Given the description of an element on the screen output the (x, y) to click on. 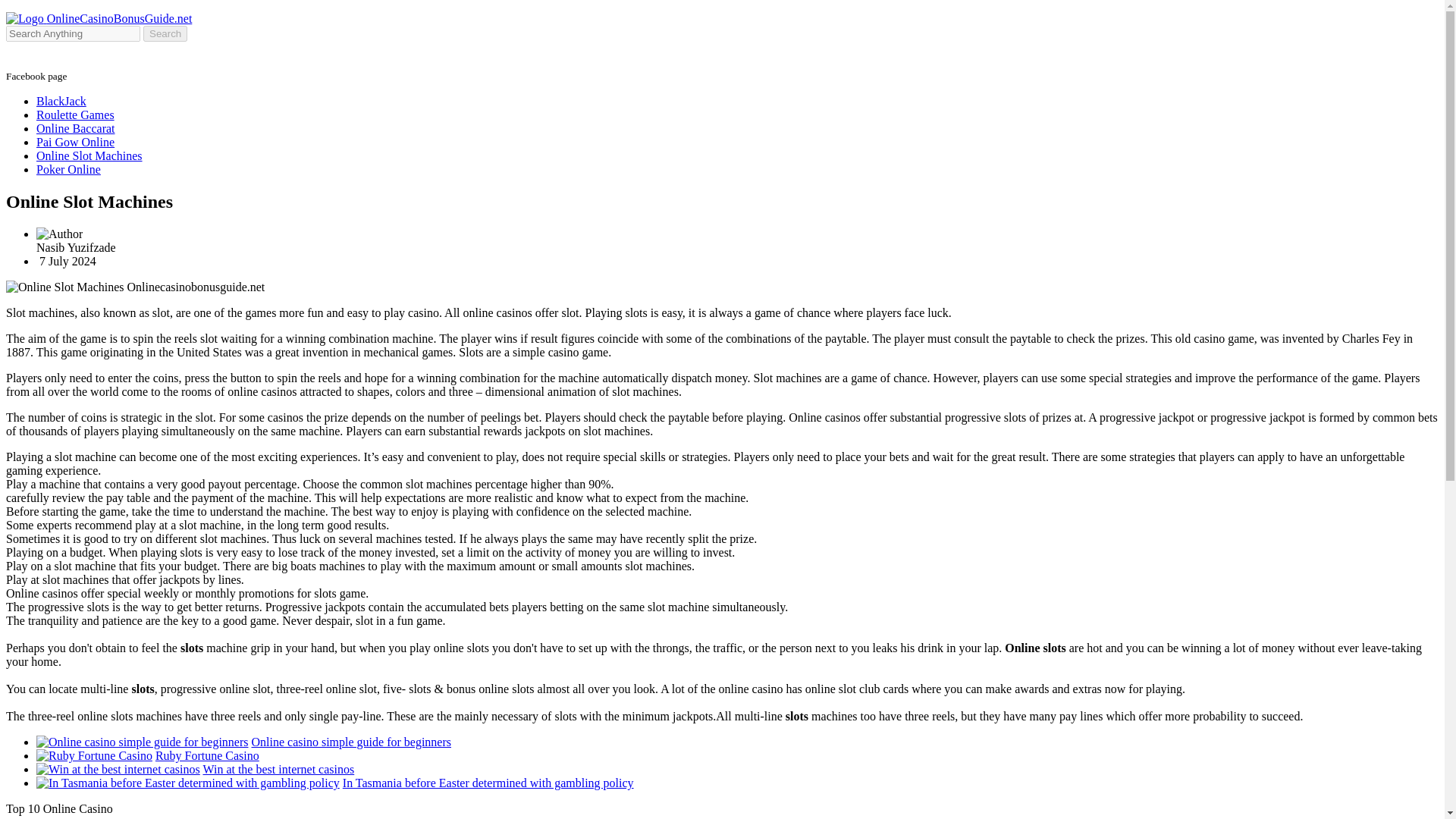
In Tasmania before Easter determined with gambling policy (487, 782)
OnlineCasinoBonusGuide.net (98, 18)
Ruby Fortune Casino (207, 755)
BlackJack (60, 101)
Poker Online (68, 169)
Roulette Games (75, 114)
Online Baccarat (75, 128)
Pai Gow Online (75, 141)
Online casino simple guide for beginners (351, 741)
brasilmaisempreendedor.com (142, 741)
